Given the description of an element on the screen output the (x, y) to click on. 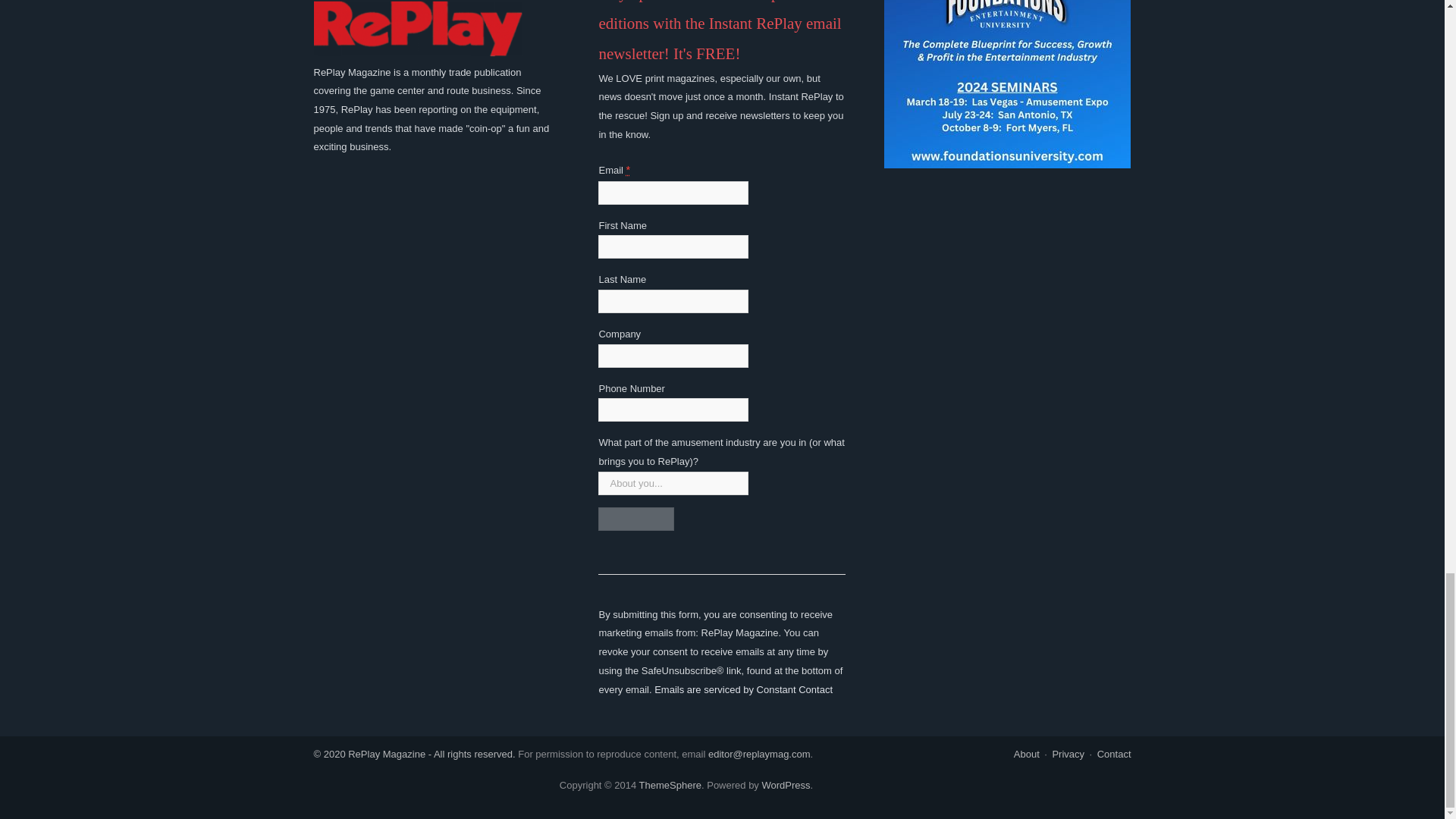
Sign me up! (635, 518)
